Given the description of an element on the screen output the (x, y) to click on. 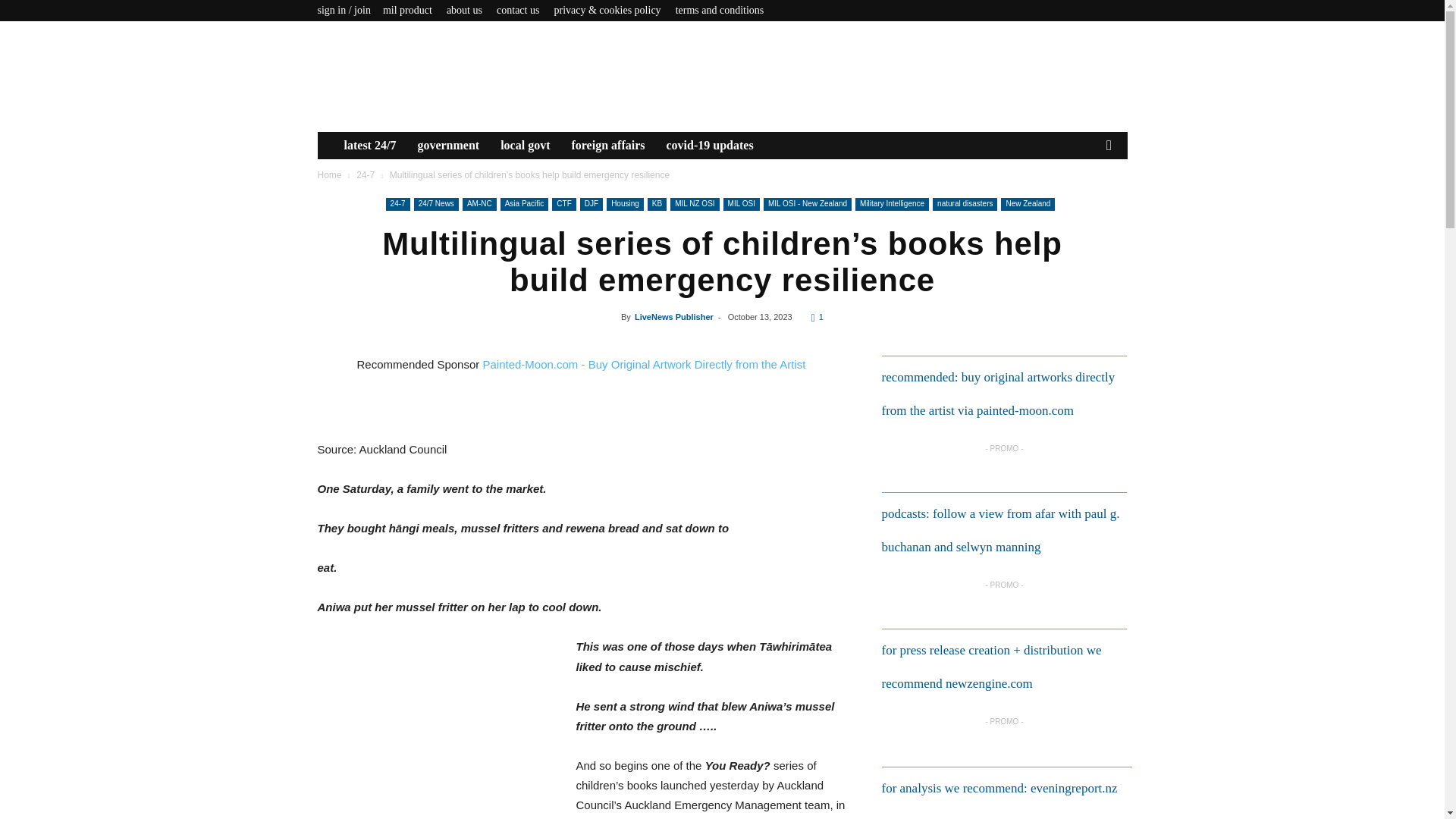
Asia Pacific (524, 204)
foreign affairs (607, 144)
local govt (524, 144)
24-7 (397, 204)
View all posts in 24-7 (365, 174)
MIL OSI (741, 204)
about us (463, 9)
mil product (407, 9)
Search (1085, 201)
24-7 (365, 174)
